Given the description of an element on the screen output the (x, y) to click on. 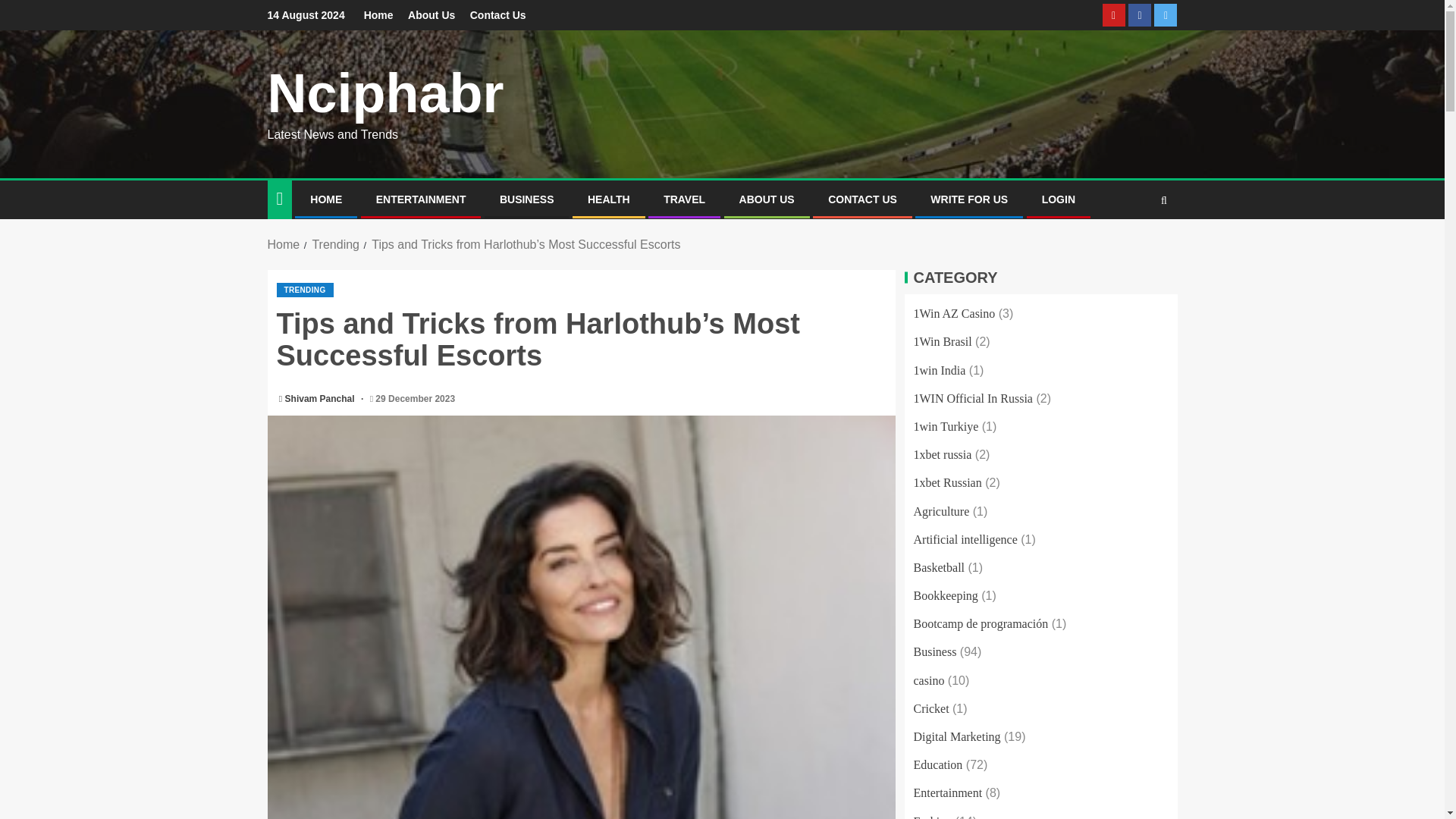
BUSINESS (526, 199)
LOGIN (1058, 199)
TRAVEL (683, 199)
Home (282, 244)
Trending (335, 244)
Contact Us (497, 15)
TRENDING (304, 289)
WRITE FOR US (968, 199)
